Given the description of an element on the screen output the (x, y) to click on. 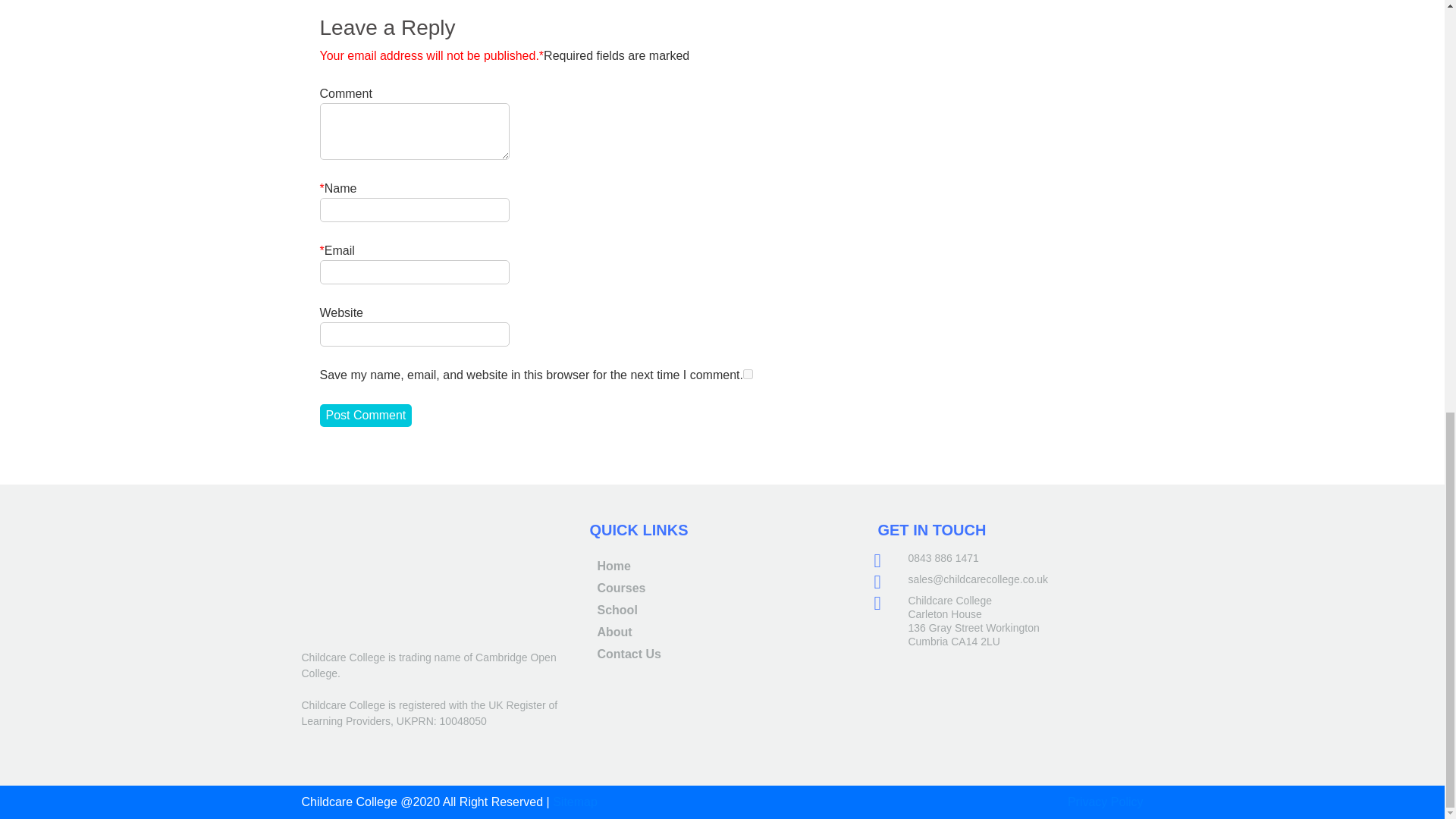
School (616, 609)
yes (747, 374)
Home (613, 565)
About (613, 631)
Post Comment (366, 415)
Post Comment (366, 415)
Courses (620, 587)
